Given the description of an element on the screen output the (x, y) to click on. 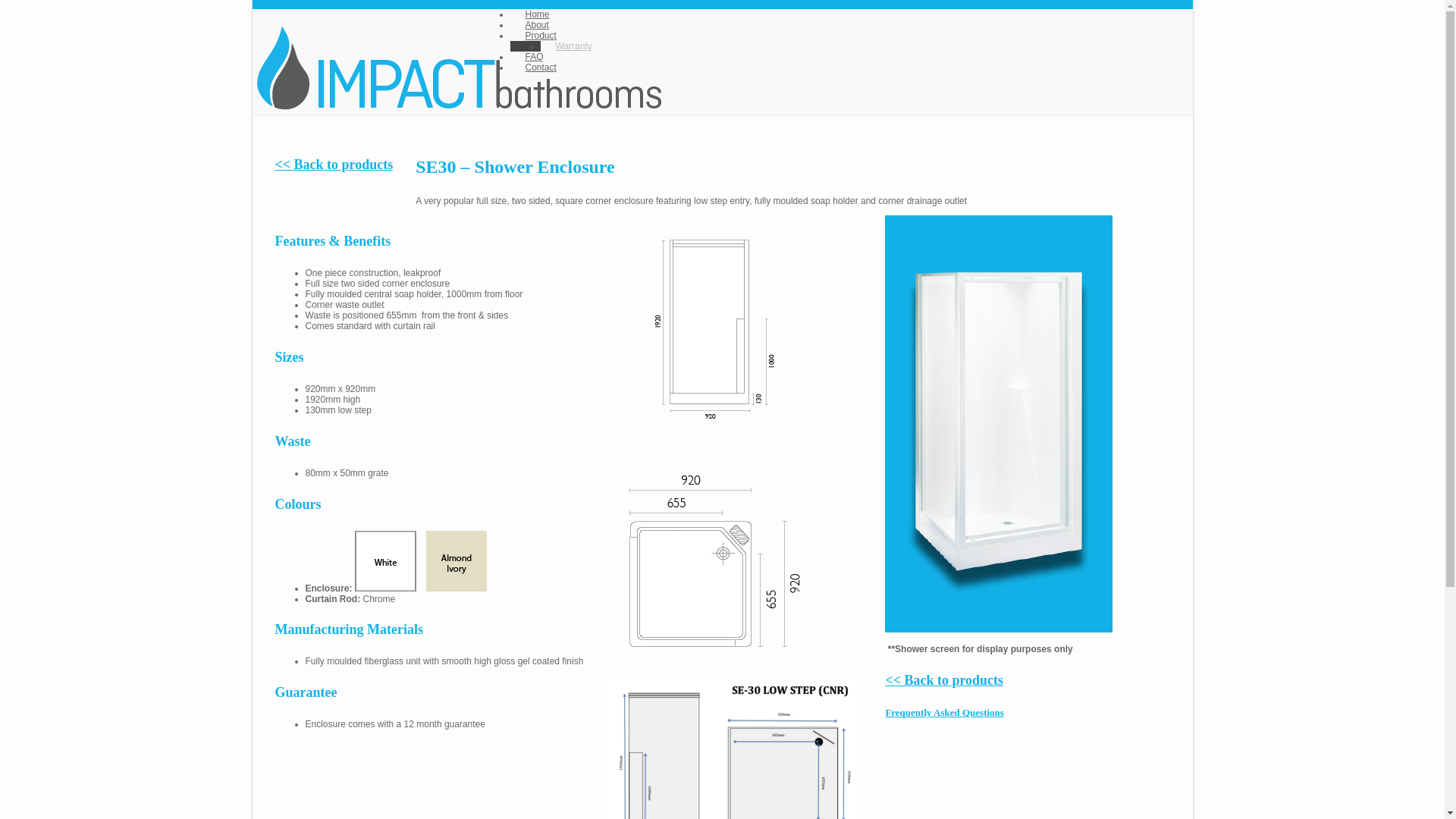
FAQ Element type: text (533, 56)
Contact Element type: text (540, 67)
Warranty Element type: text (572, 45)
Product Element type: text (540, 35)
Frequently Asked Questions Element type: text (944, 712)
<< Back to products Element type: text (943, 679)
About Element type: text (536, 24)
<< Back to products Element type: text (333, 164)
